Given the description of an element on the screen output the (x, y) to click on. 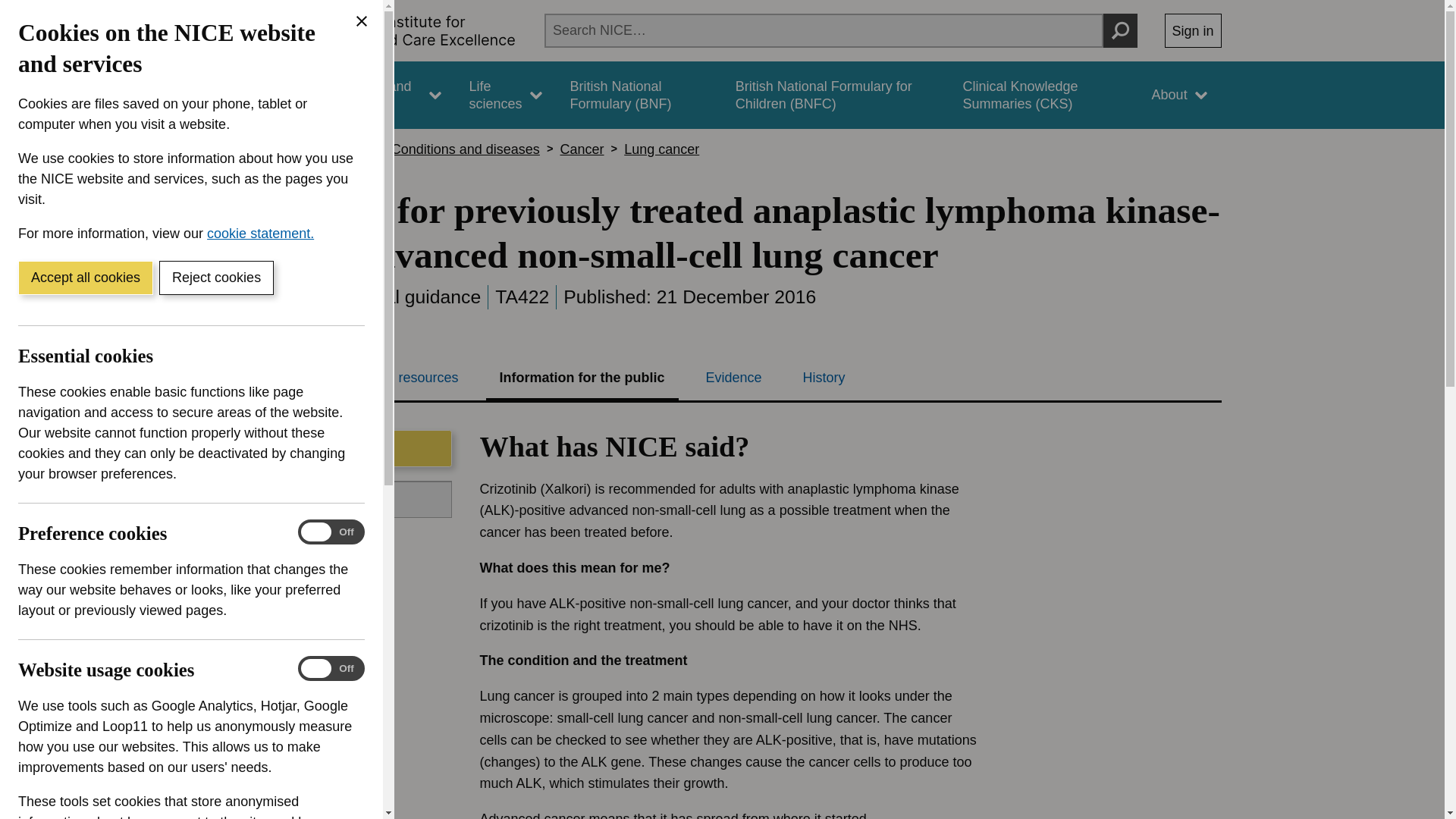
Life sciences (505, 94)
Standards and indicators (381, 94)
Sign in (1192, 30)
Accept all cookies (84, 277)
Reject cookies (215, 277)
Guidance (265, 94)
